Given the description of an element on the screen output the (x, y) to click on. 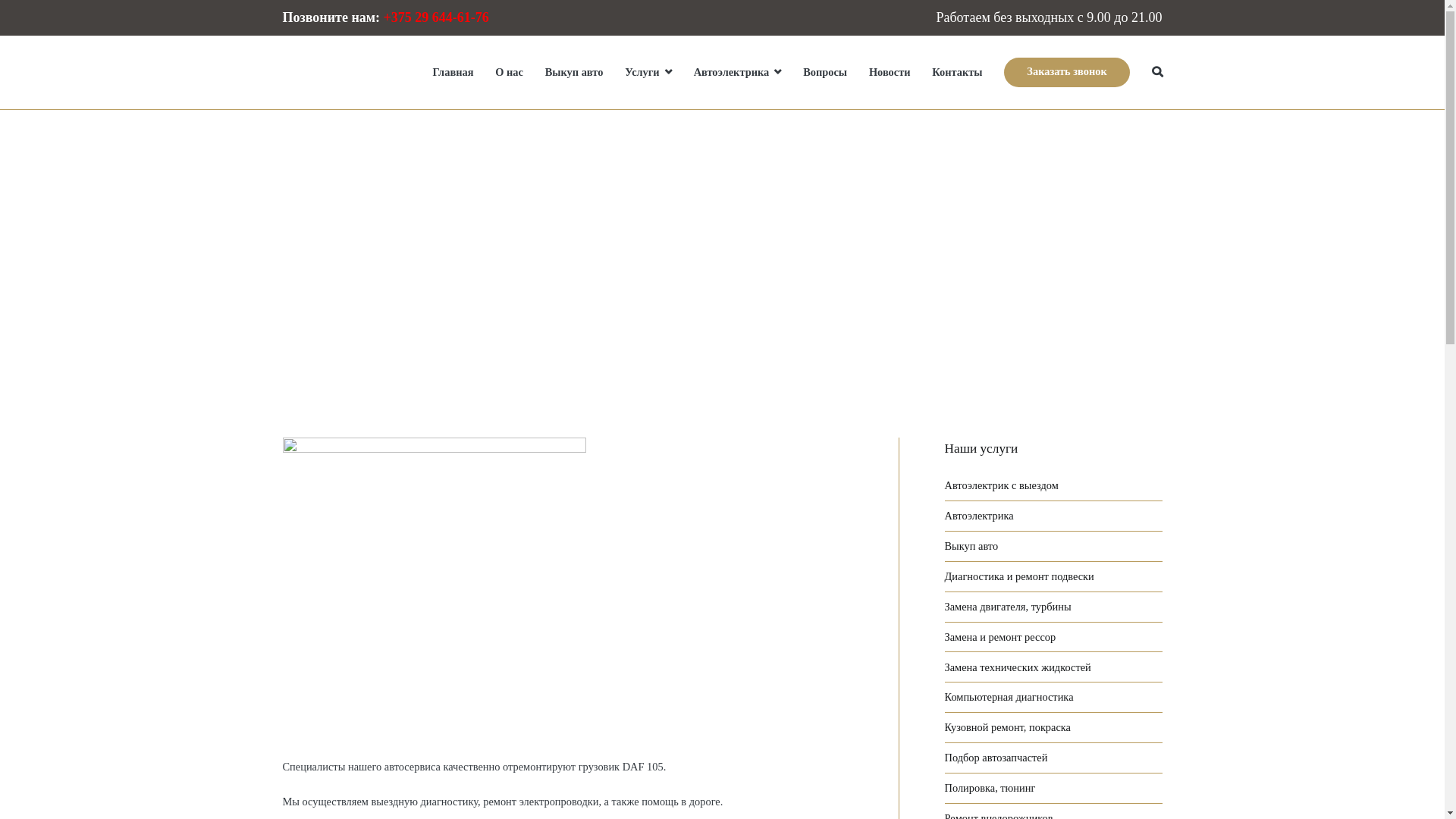
STO-truck.by Element type: text (336, 82)
